Given the description of an element on the screen output the (x, y) to click on. 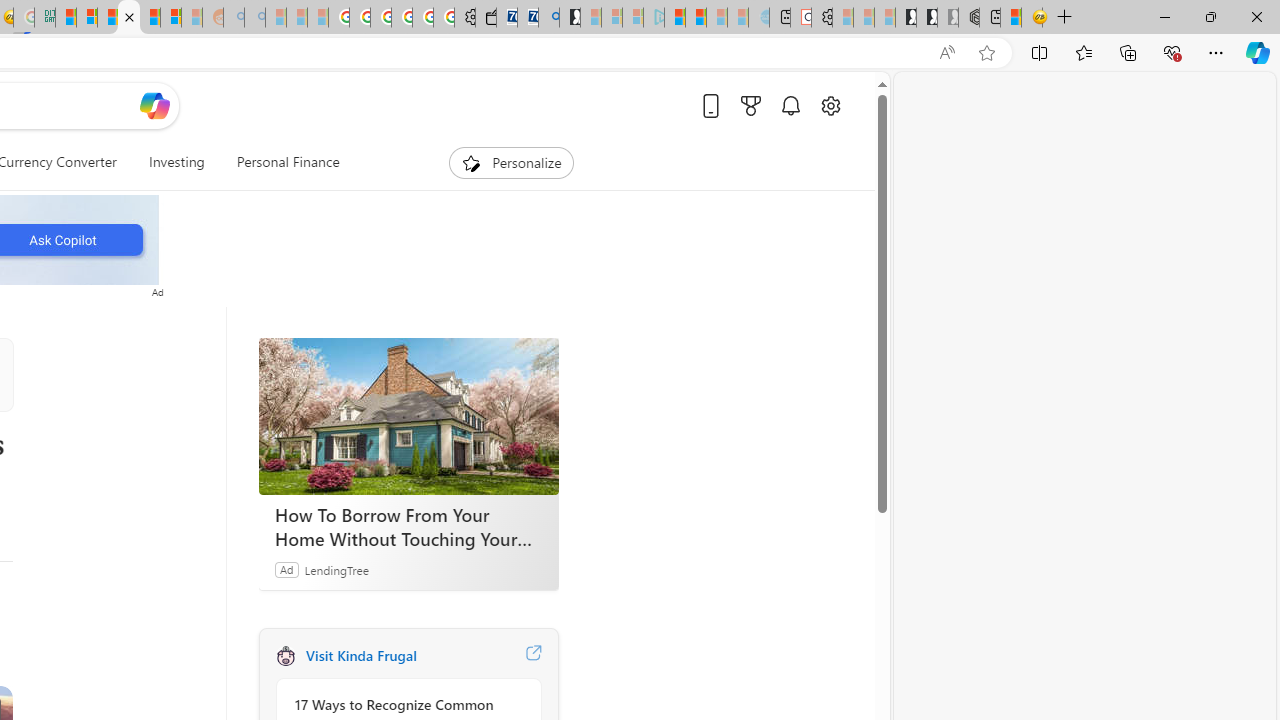
Aberdeen, Hong Kong SAR hourly forecast | Microsoft Weather (1011, 17)
Wallet (486, 17)
